Given the description of an element on the screen output the (x, y) to click on. 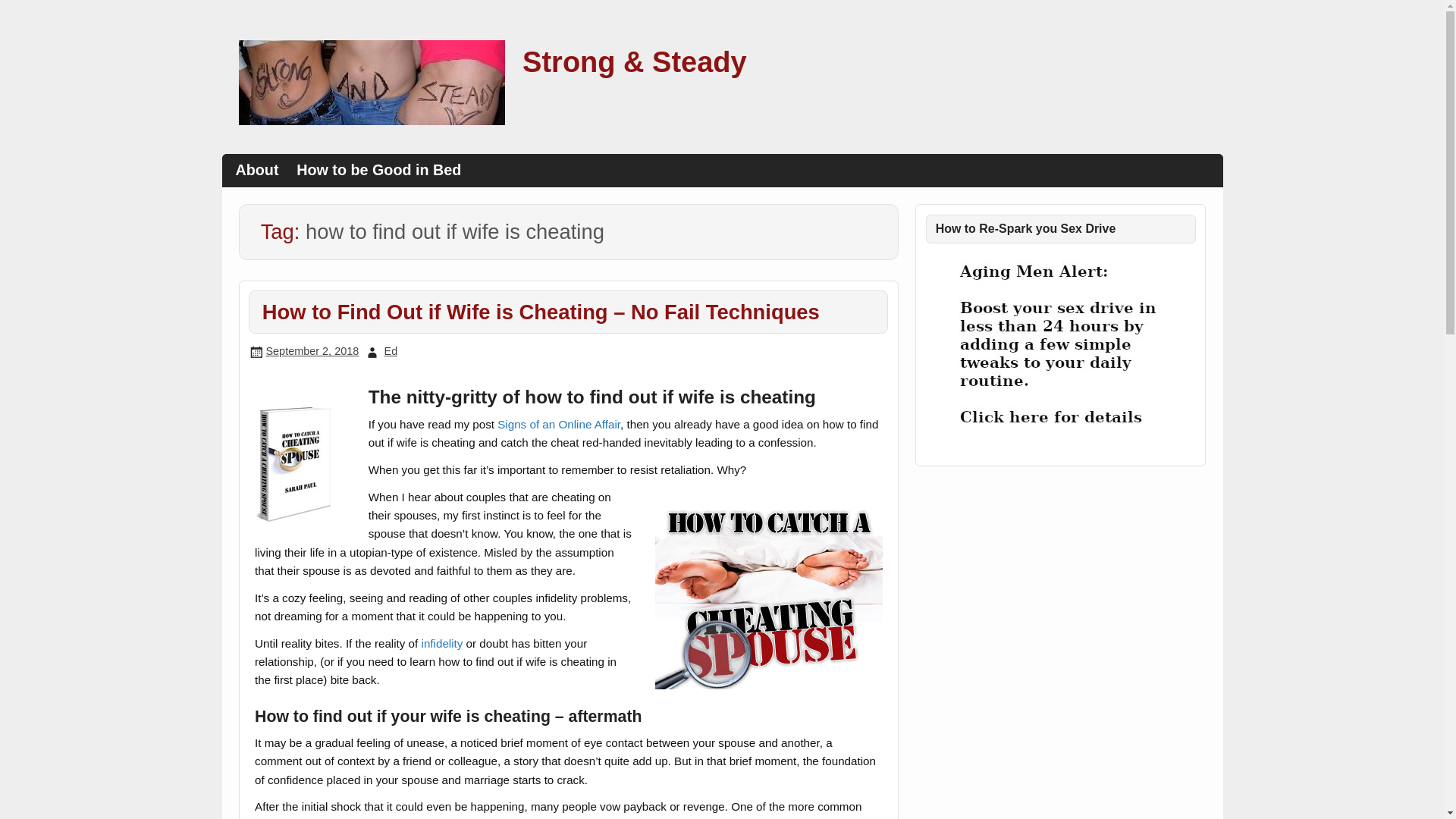
Signs of an Online Affair (558, 423)
How to be Good in Bed (378, 169)
11:19 am (311, 350)
About (257, 169)
Ed (390, 350)
infidelity (442, 643)
View all posts by Ed (390, 350)
September 2, 2018 (311, 350)
